Given the description of an element on the screen output the (x, y) to click on. 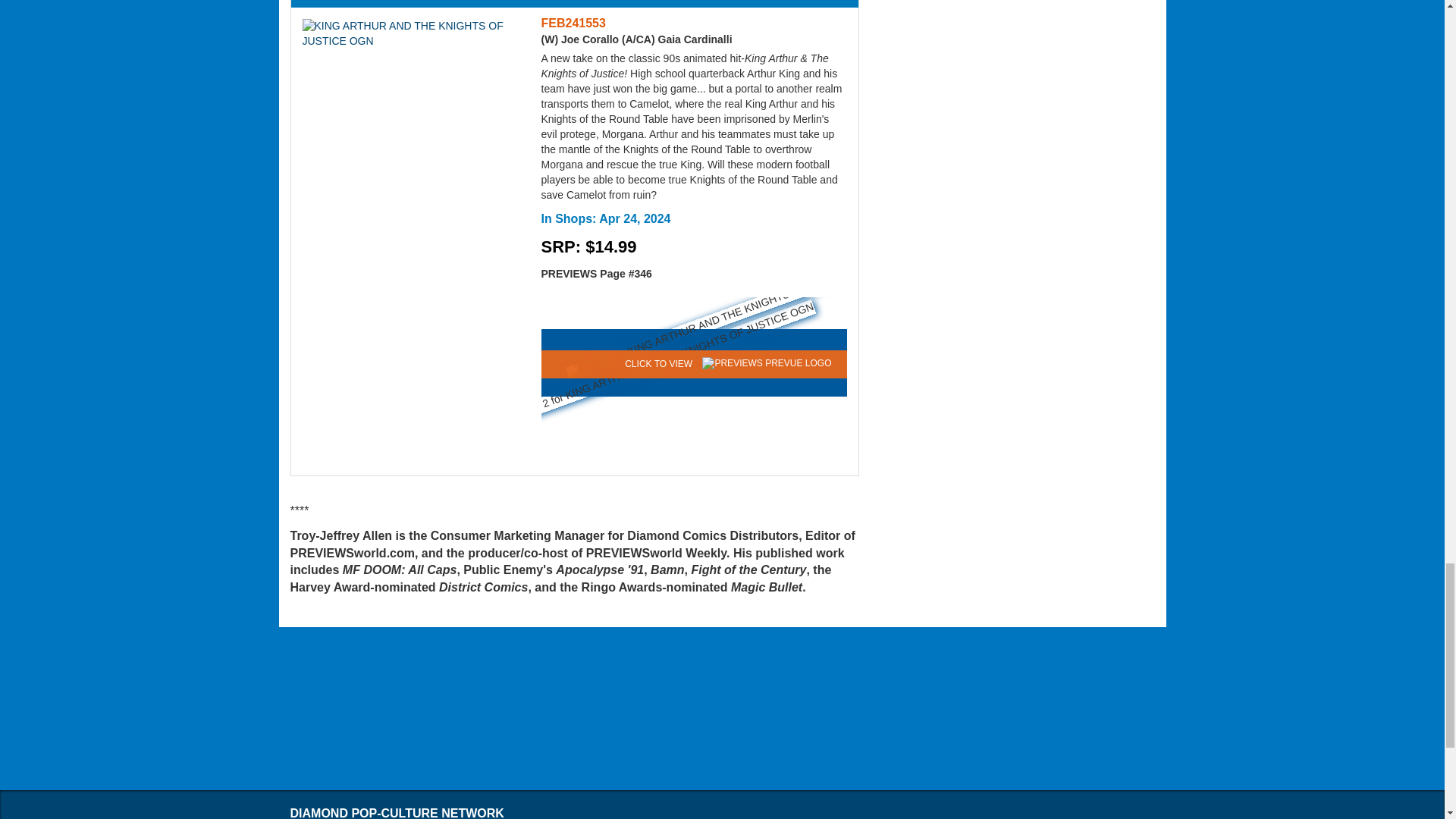
3rd party ad content (722, 710)
